Given the description of an element on the screen output the (x, y) to click on. 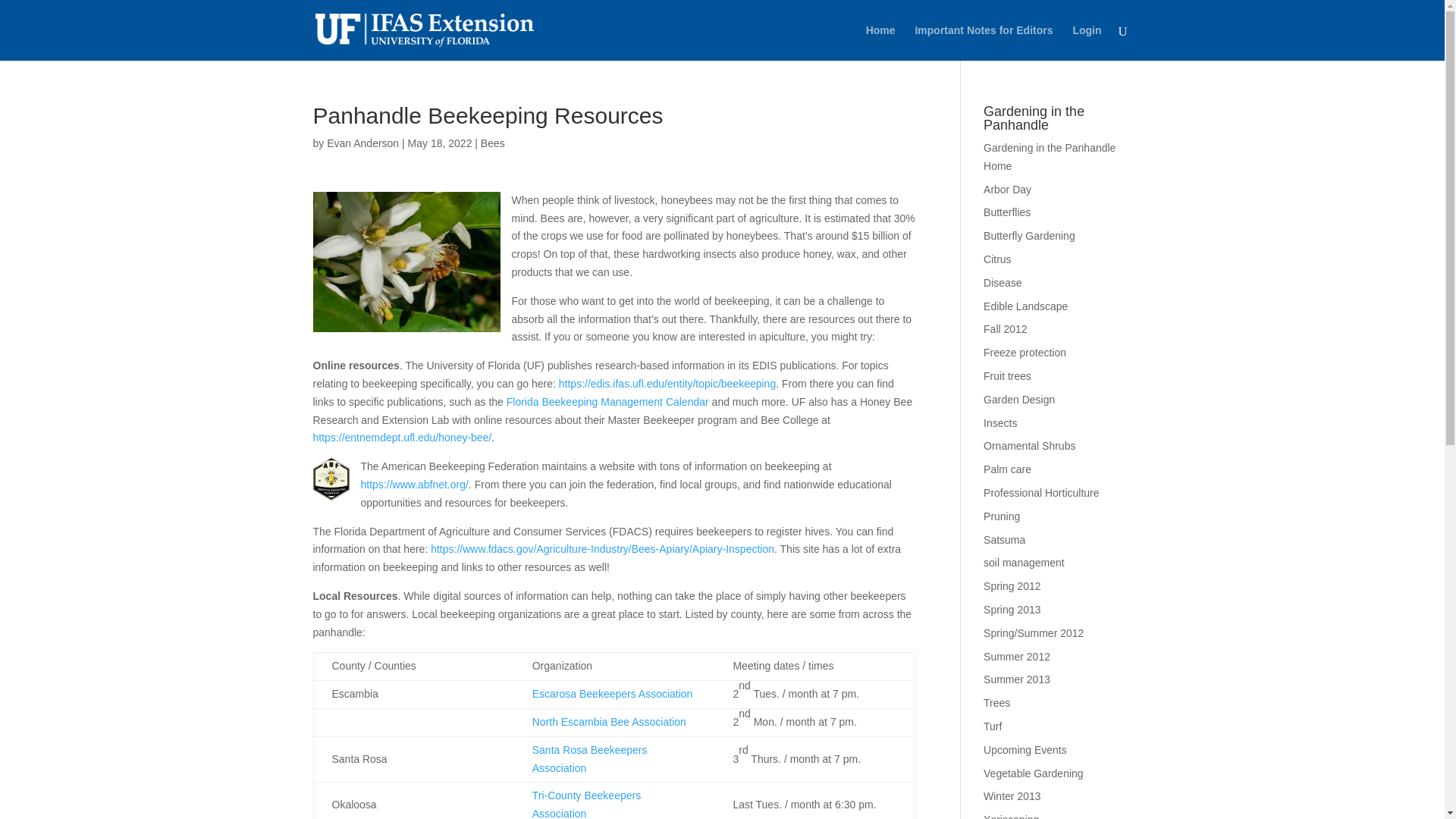
Posts by Evan Anderson (362, 143)
Florida Beekeeping Management Calendar (607, 401)
Important Notes for Editors (983, 42)
Butterfly Gardening (1029, 235)
Disease (1003, 282)
Bees (492, 143)
Santa Rosa Beekeepers Association (589, 758)
Escarosa Beekeepers Association (612, 693)
Evan Anderson (362, 143)
North Escambia Bee Association (608, 721)
